Given the description of an element on the screen output the (x, y) to click on. 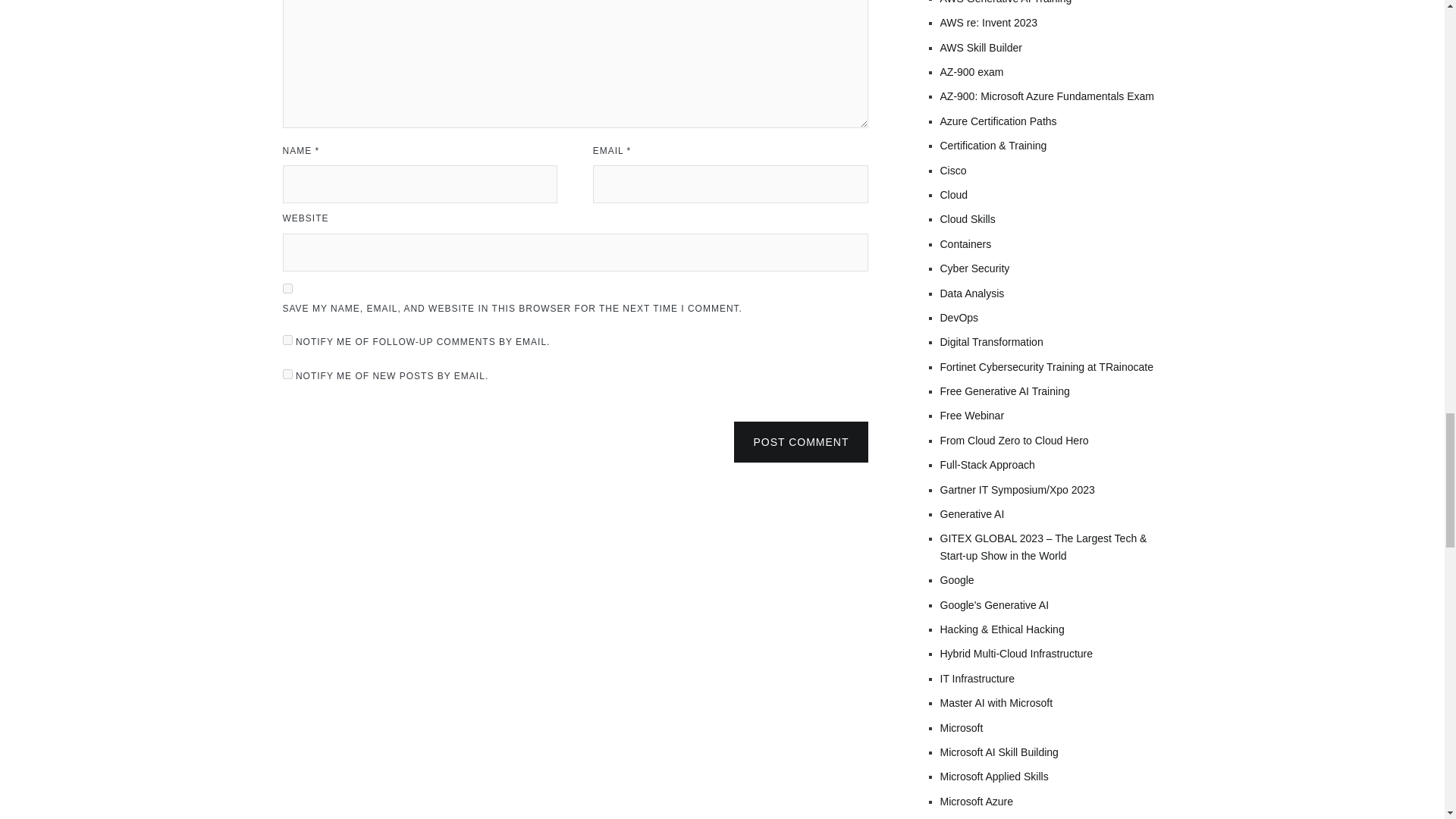
subscribe (287, 374)
yes (287, 288)
subscribe (287, 339)
